Given the description of an element on the screen output the (x, y) to click on. 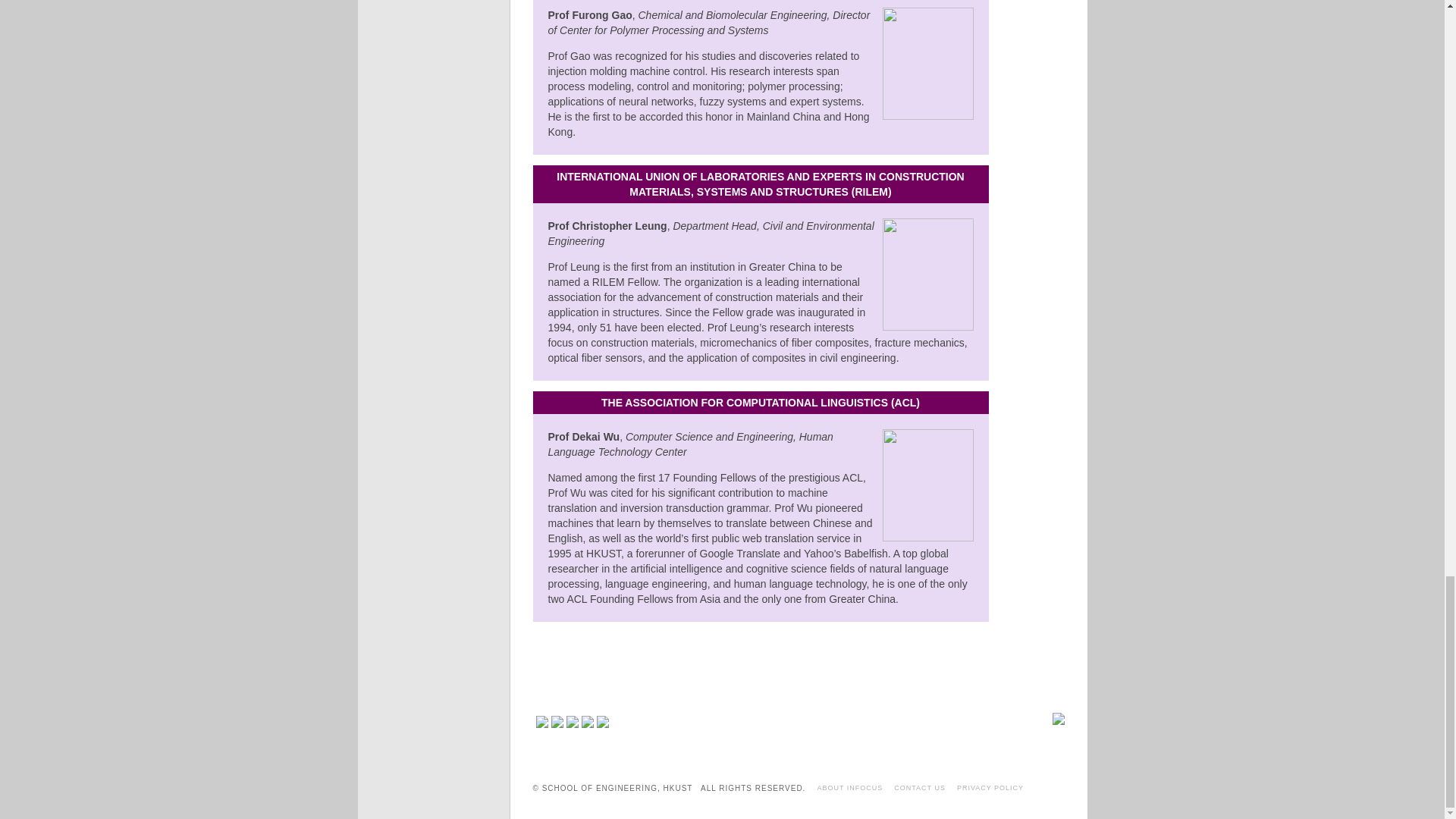
CONTACT US (918, 787)
PRIVACY POLICY (989, 787)
ABOUT INFOCUS (849, 787)
